Given the description of an element on the screen output the (x, y) to click on. 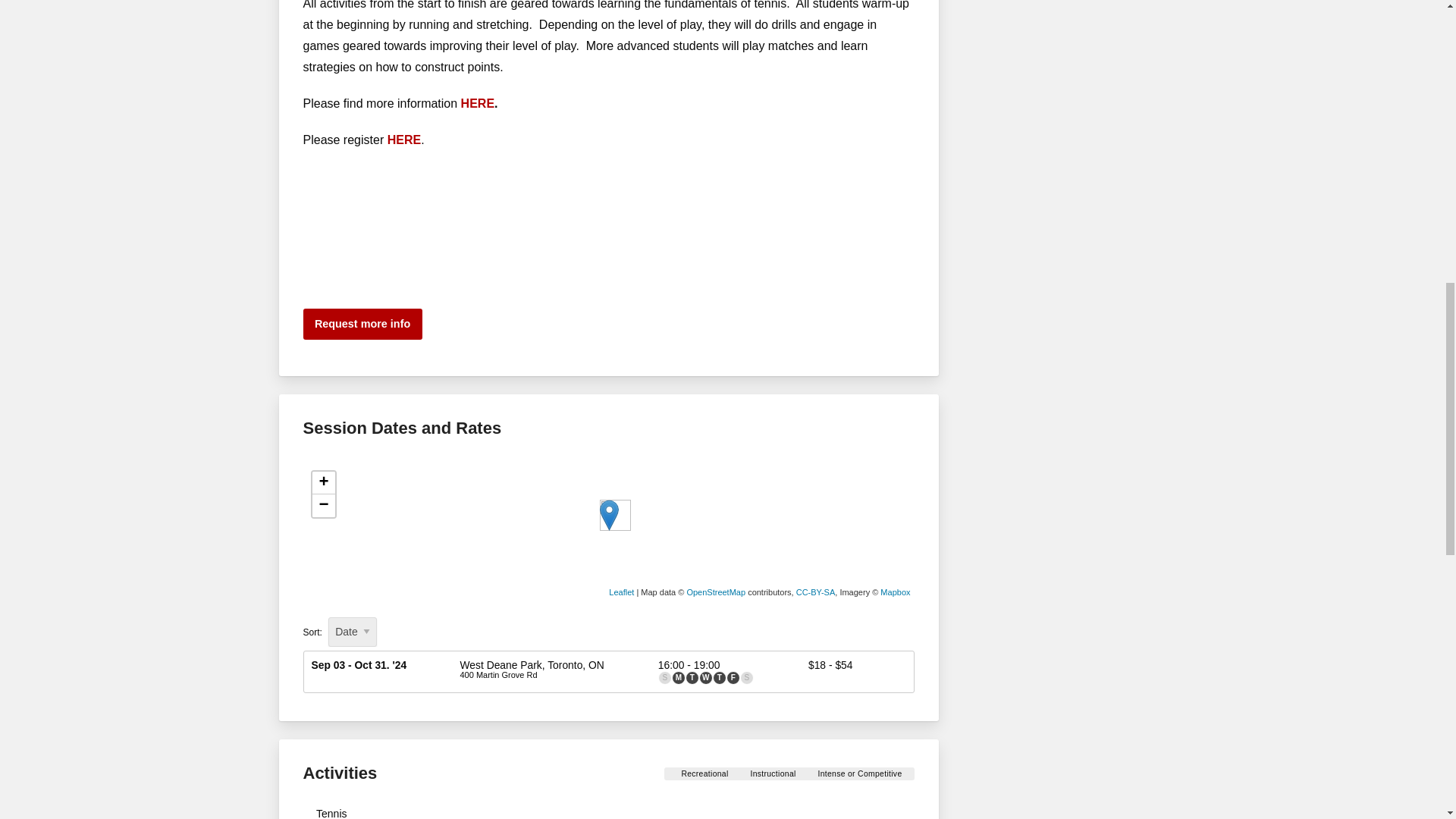
Zoom in (323, 482)
Zoom out (323, 505)
A JS library for interactive maps (620, 592)
